Given the description of an element on the screen output the (x, y) to click on. 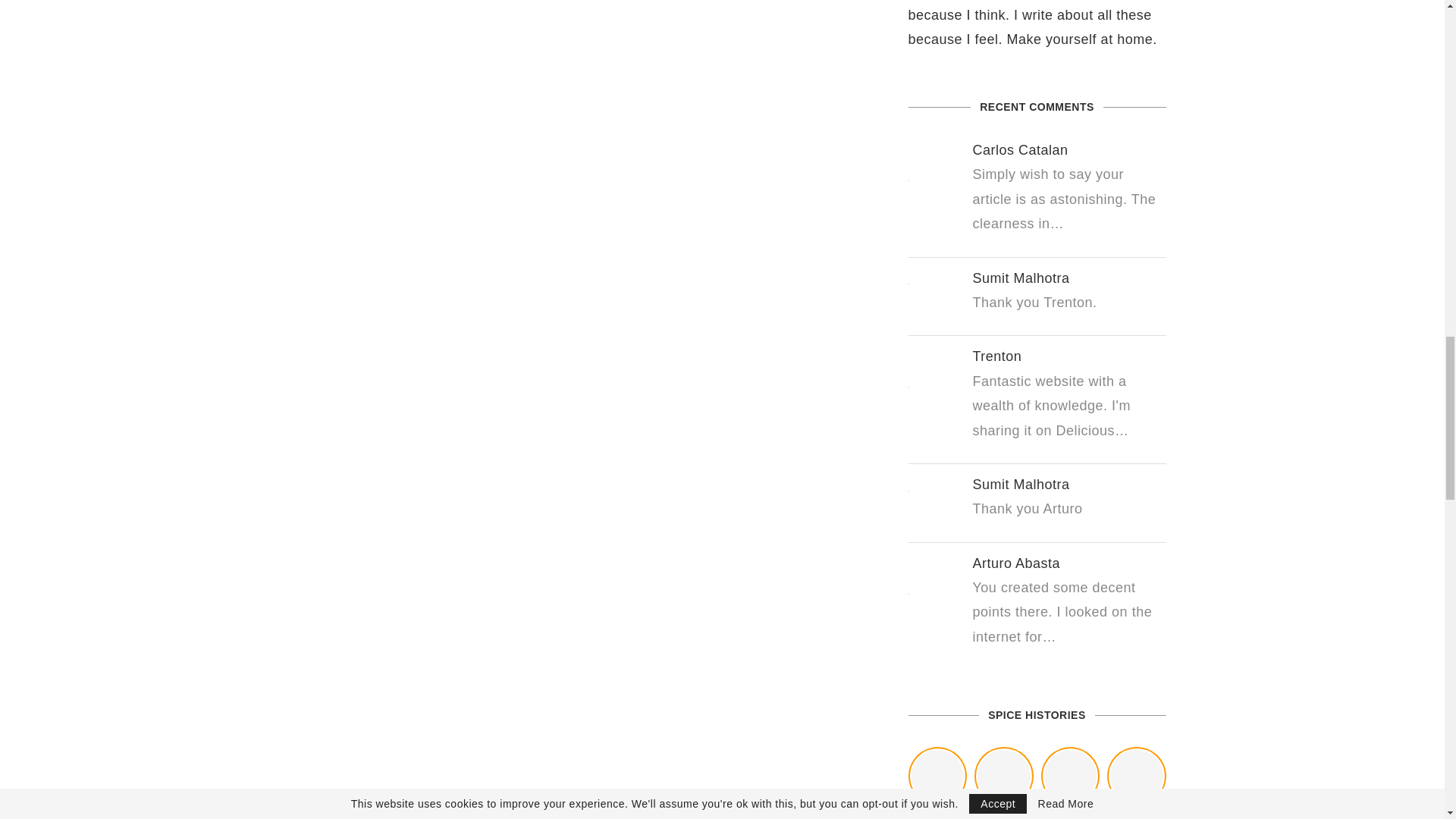
The Best Kitchen Essentials List for Anyone Who Cooks (1003, 776)
The Best Kitchen Essentials List for Anyone Who Cooks (1003, 814)
